Given the description of an element on the screen output the (x, y) to click on. 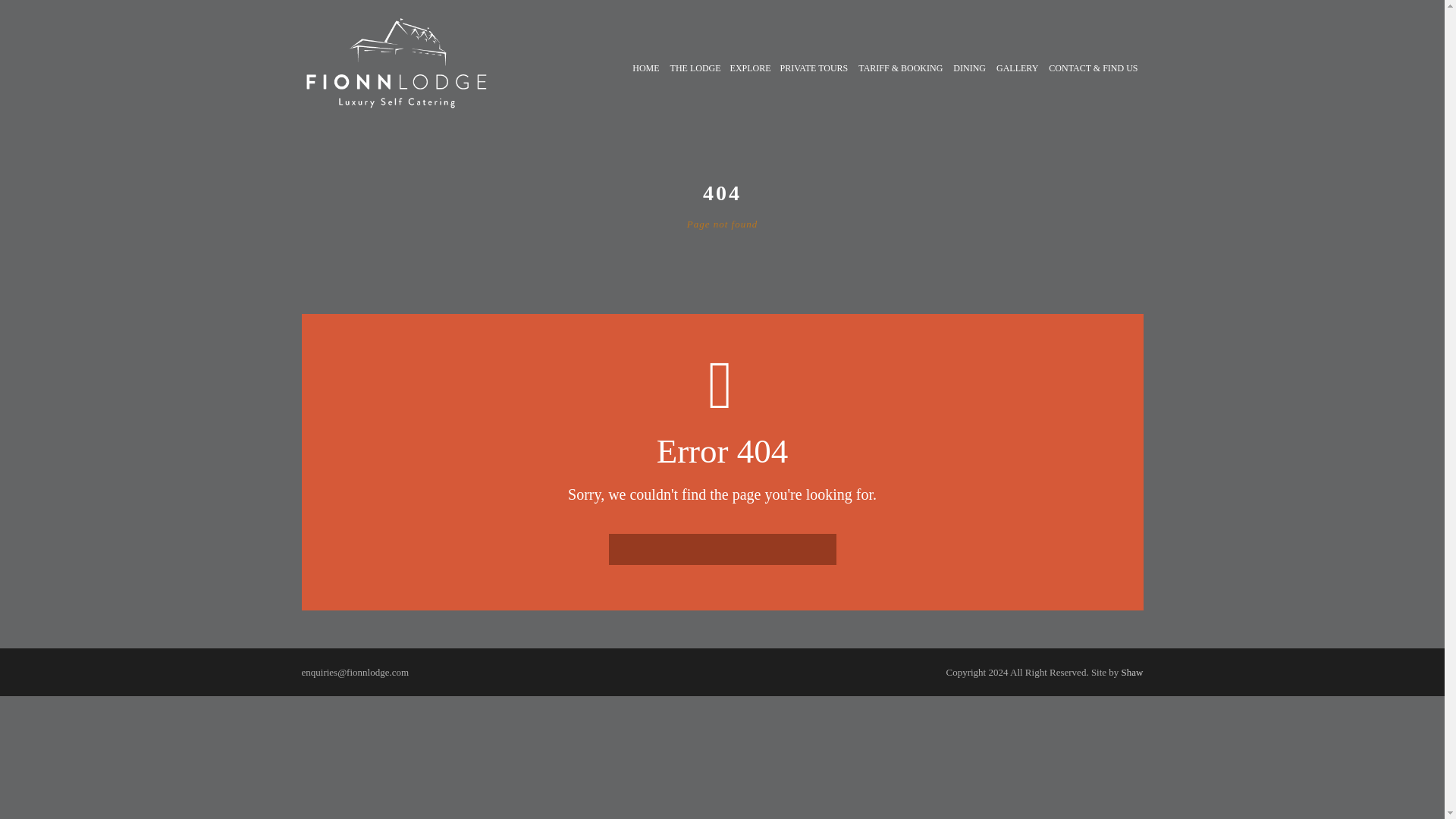
THE LODGE (695, 84)
EXPLORE (749, 84)
PRIVATE TOURS (813, 84)
GALLERY (1017, 84)
Shaw (1131, 672)
